Given the description of an element on the screen output the (x, y) to click on. 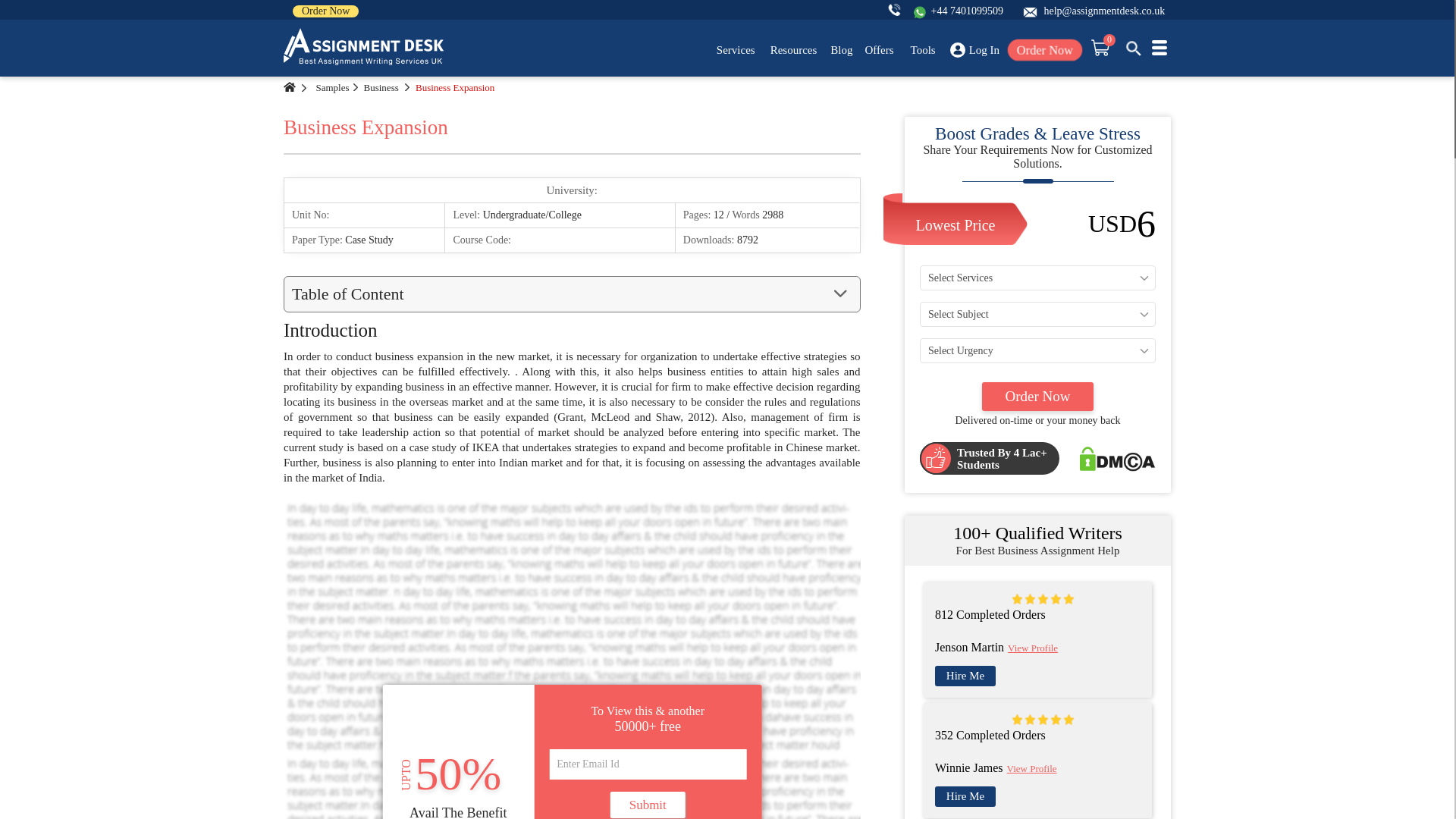
Order Now (325, 10)
Home (289, 86)
Assignment help (363, 47)
